Given the description of an element on the screen output the (x, y) to click on. 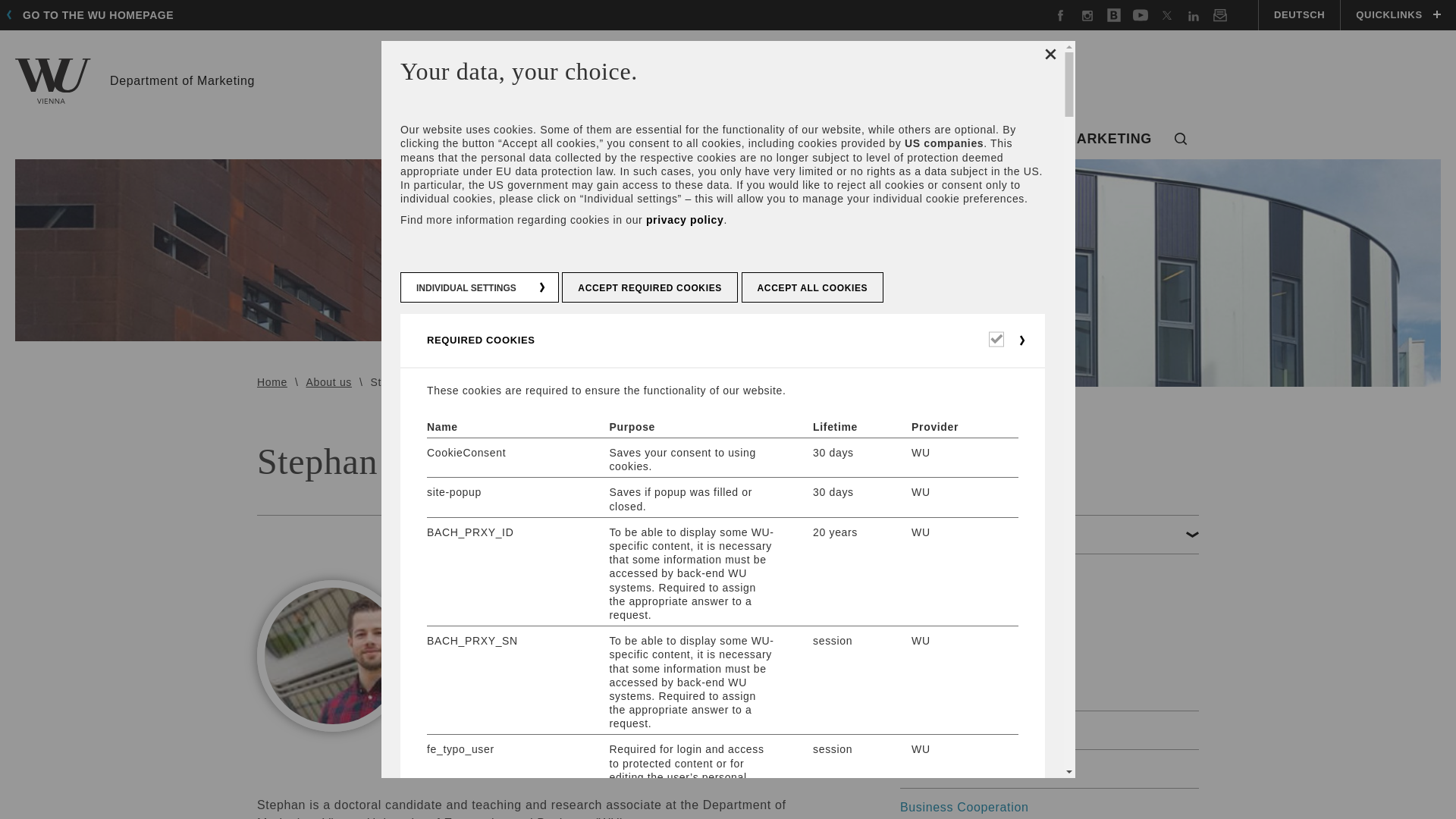
Search (1180, 140)
ABOUT US (467, 140)
GO TO THE WU HOMEPAGE (94, 15)
DEUTSCH (1298, 15)
TEACHING (134, 81)
on (584, 140)
